Given the description of an element on the screen output the (x, y) to click on. 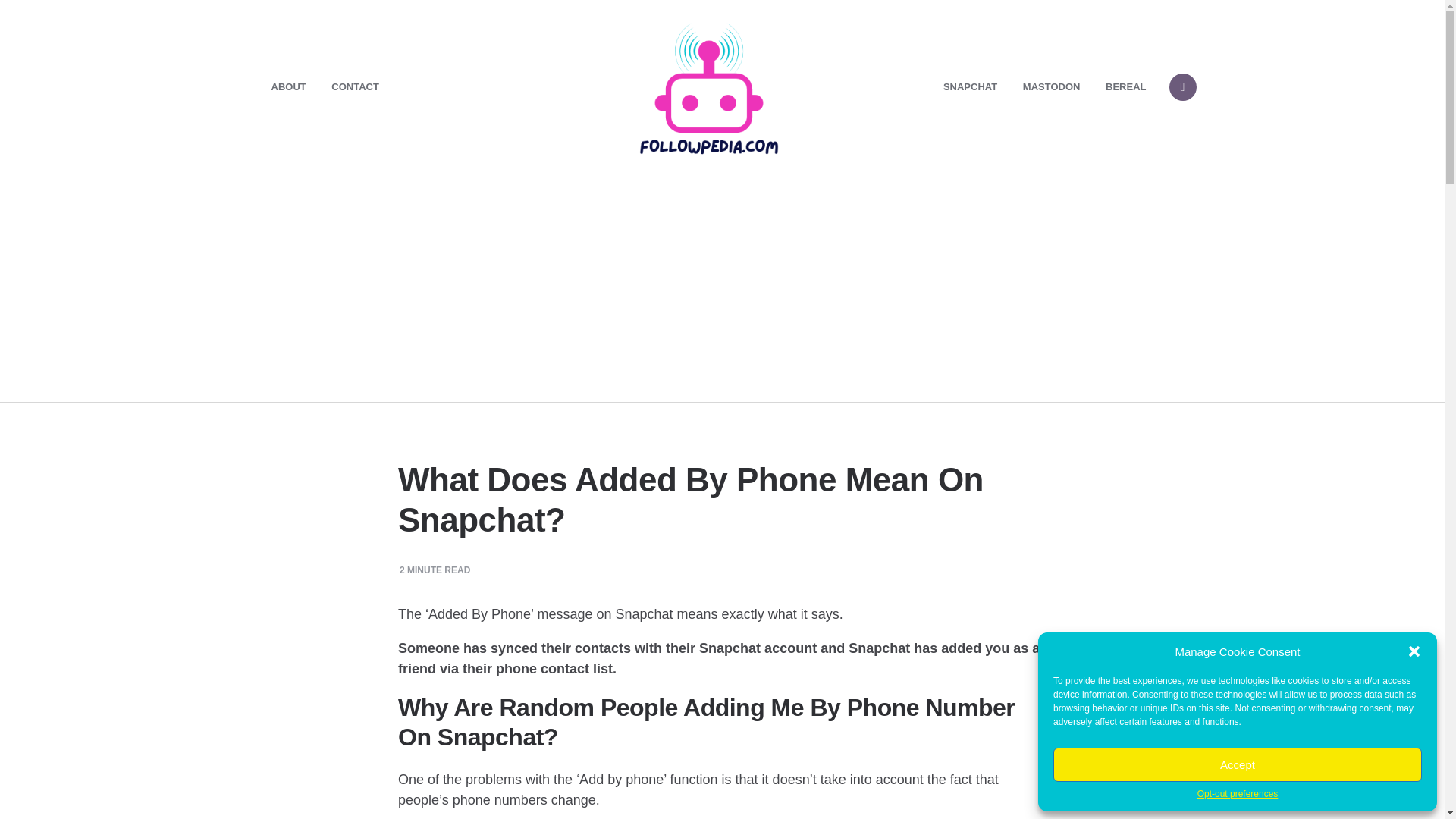
MASTODON (1051, 86)
SNAPCHAT (970, 86)
ABOUT (288, 86)
Opt-out preferences (1237, 794)
Accept (1237, 764)
CONTACT (355, 86)
BEREAL (1125, 86)
